Given the description of an element on the screen output the (x, y) to click on. 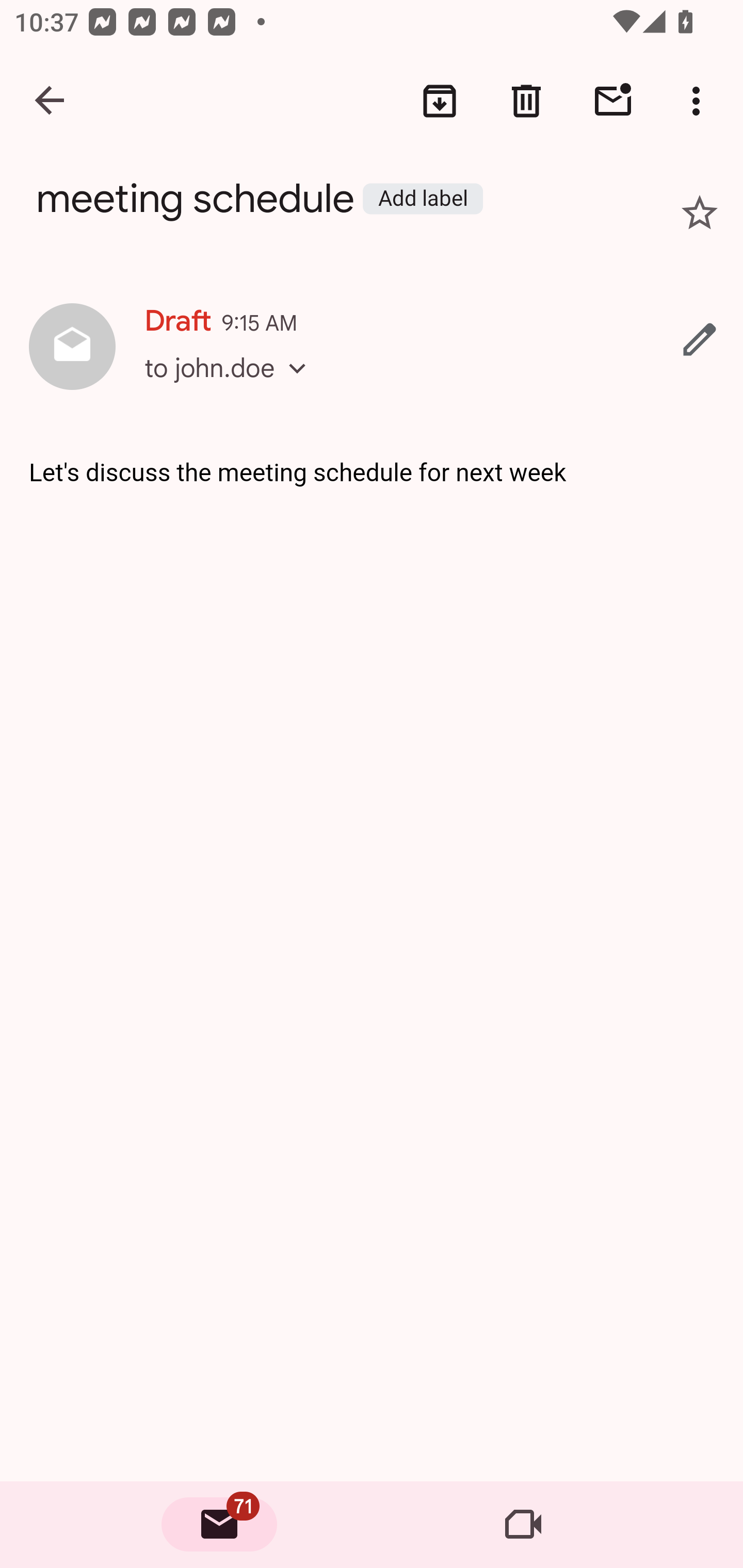
Navigate up (50, 101)
Archive (439, 101)
Discard drafts (525, 101)
Mark unread (612, 101)
More options (699, 101)
Draft 9:15 AM to john.doe Edit (371, 347)
Edit (699, 339)
to john.doe (231, 386)
Meet (523, 1524)
